Given the description of an element on the screen output the (x, y) to click on. 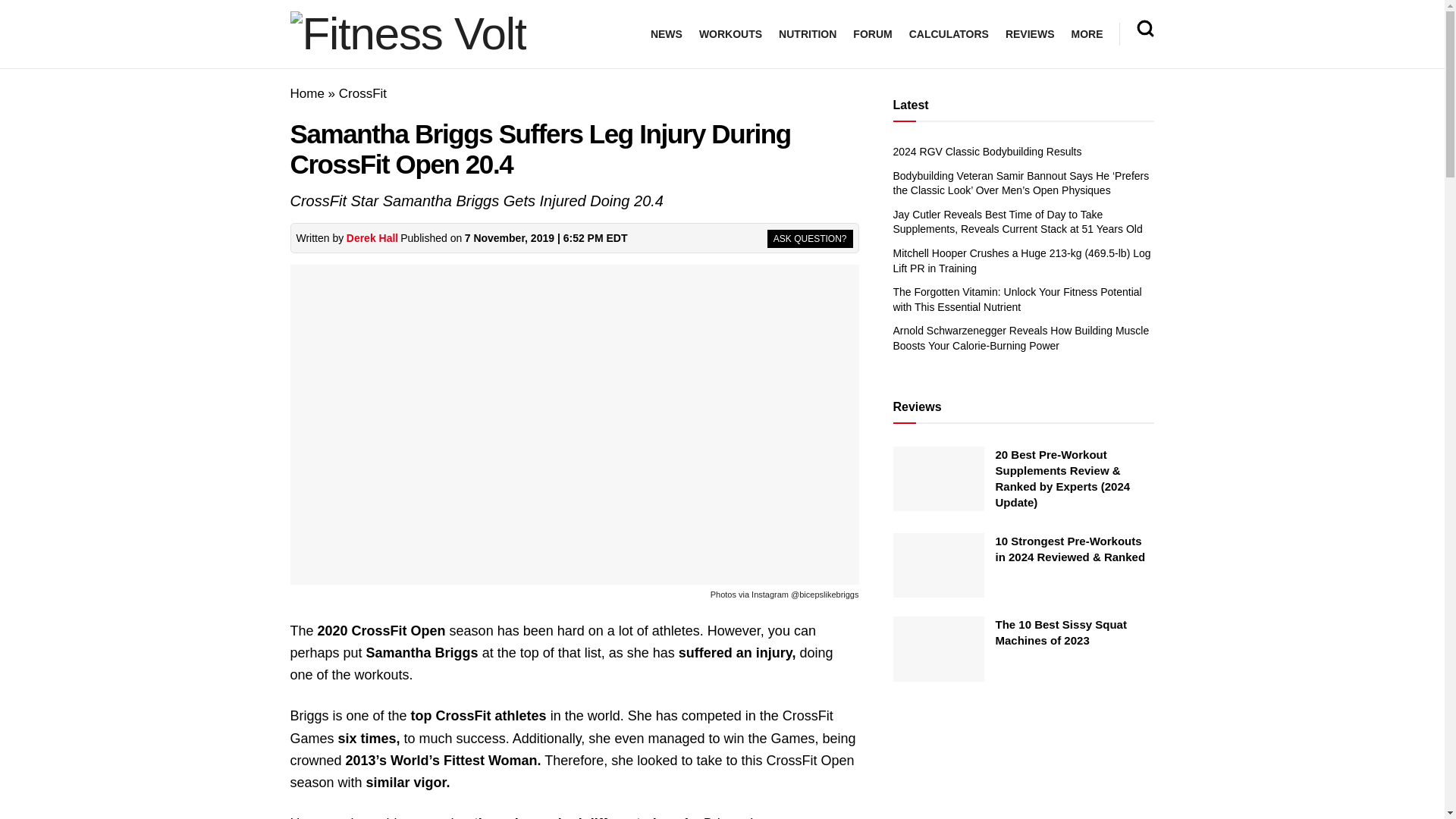
REVIEWS (1030, 34)
FORUM (872, 34)
CALCULATORS (948, 34)
WORKOUTS (729, 34)
MORE (1086, 34)
NUTRITION (806, 34)
NEWS (666, 34)
